Given the description of an element on the screen output the (x, y) to click on. 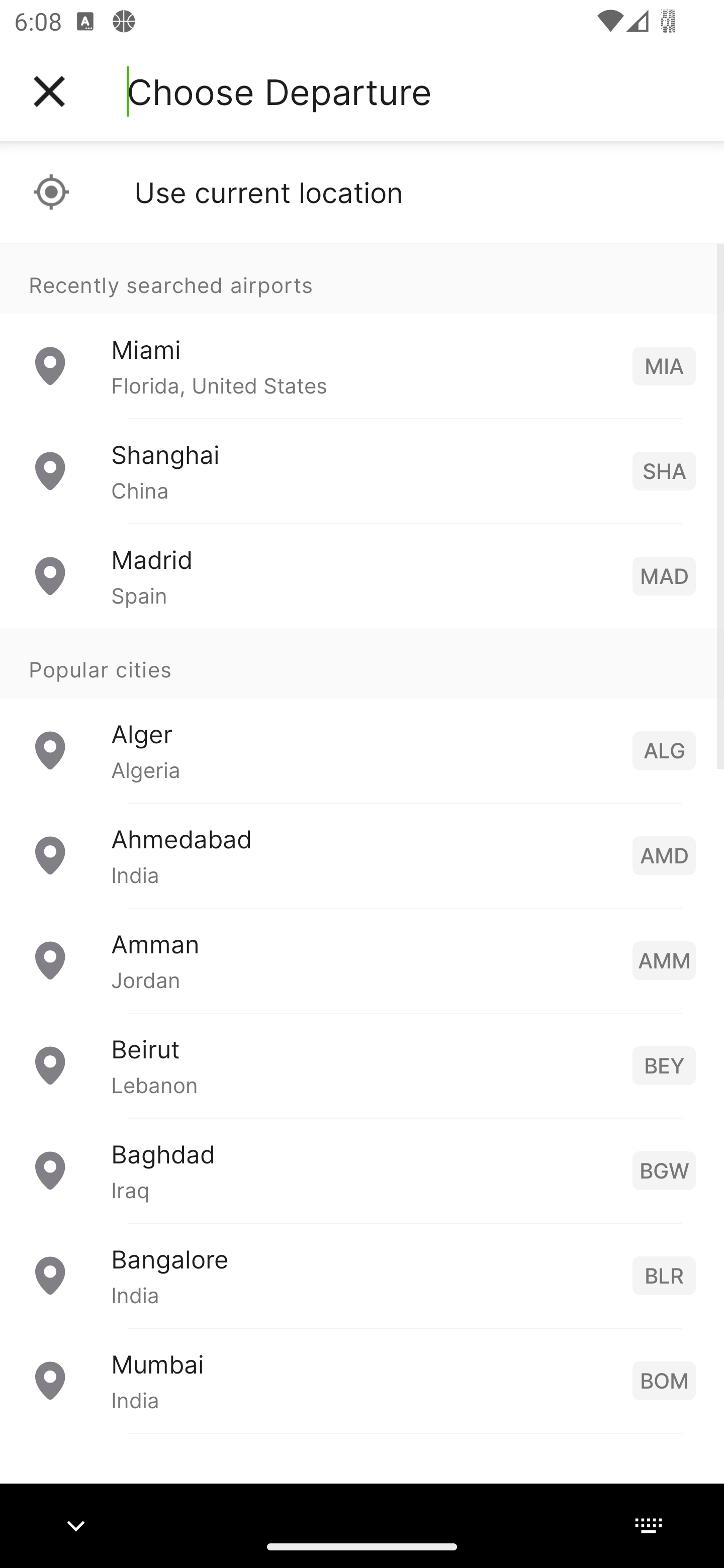
Choose Departure (279, 91)
Use current location (362, 192)
Recently searched airports (362, 278)
Shanghai China SHA (362, 470)
Madrid Spain MAD (362, 575)
Popular cities Alger Algeria ALG (362, 715)
Popular cities (362, 663)
Ahmedabad India AMD (362, 854)
Amman Jordan AMM (362, 959)
Beirut Lebanon BEY (362, 1064)
Baghdad Iraq BGW (362, 1170)
Bangalore India BLR (362, 1275)
Mumbai India BOM (362, 1380)
